Given the description of an element on the screen output the (x, y) to click on. 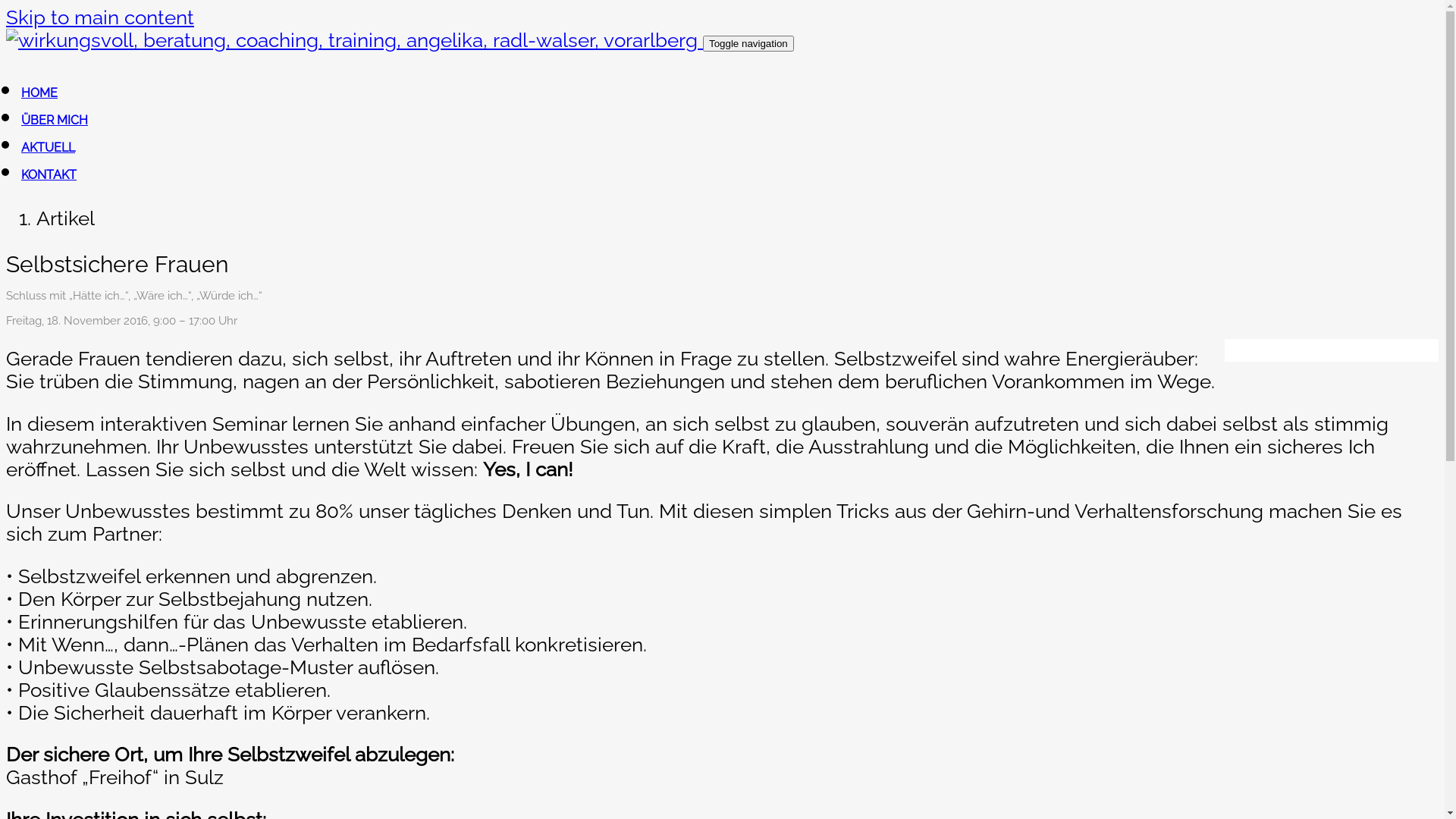
Skip to main content Element type: text (100, 17)
KONTAKT Element type: text (48, 174)
AKTUELL Element type: text (48, 147)
Toggle navigation Element type: text (747, 43)
HOME Element type: text (39, 92)
